Given the description of an element on the screen output the (x, y) to click on. 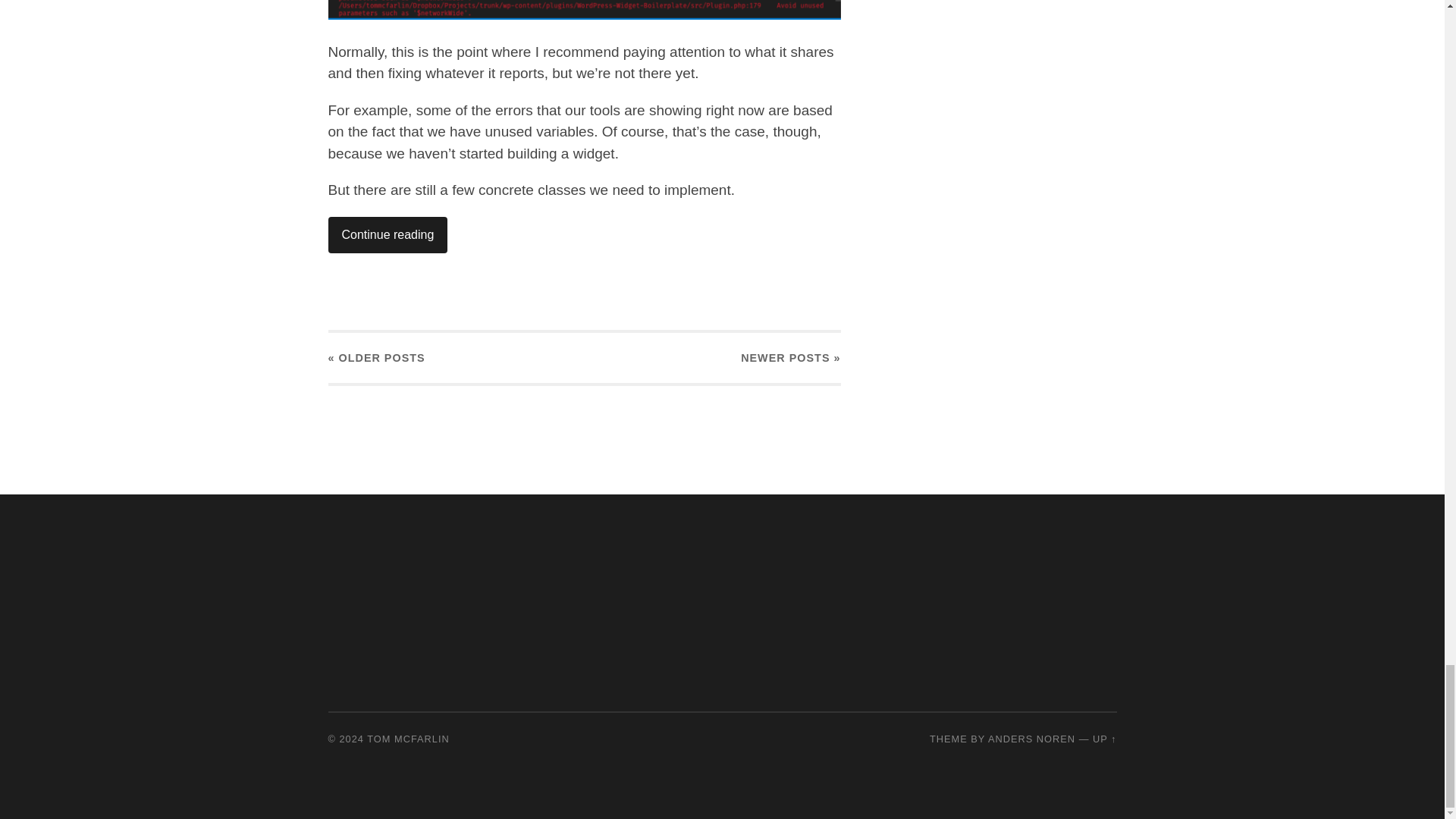
To the top (1104, 738)
